Given the description of an element on the screen output the (x, y) to click on. 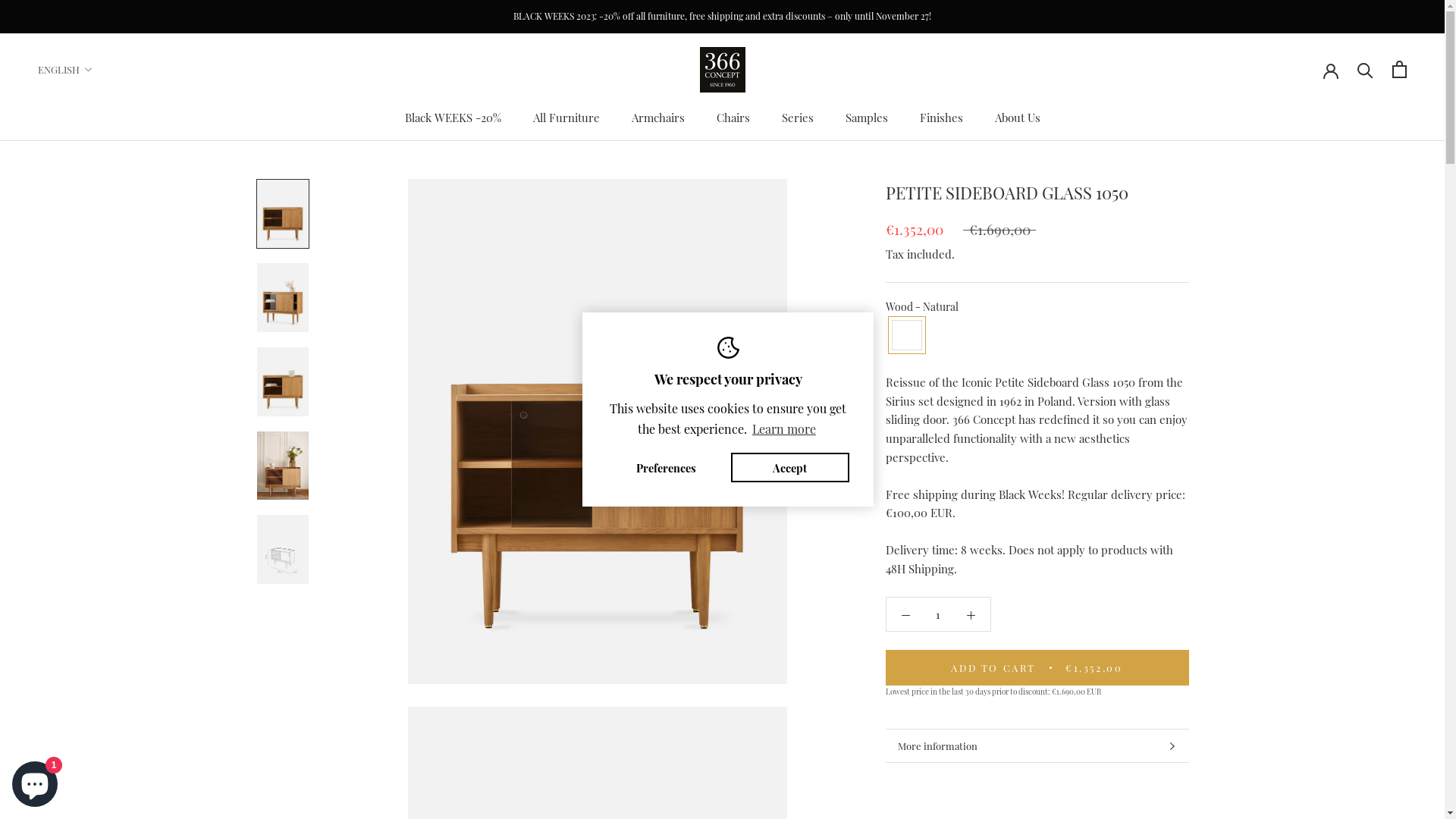
Black WEEKS -20%
Black WEEKS -20% Element type: text (452, 117)
fr Element type: text (80, 128)
Shopify online store chat Element type: hover (34, 780)
Accept Element type: text (790, 467)
Learn more Element type: text (783, 428)
Armchairs
Armchairs Element type: text (657, 117)
Series
Series Element type: text (796, 117)
About Us
About Us Element type: text (1017, 117)
More information Element type: text (1037, 745)
Finishes
Finishes Element type: text (940, 117)
Chairs
Chairs Element type: text (732, 117)
All Furniture
All Furniture Element type: text (565, 117)
Preferences Element type: text (665, 467)
en Element type: text (80, 104)
Samples
Samples Element type: text (865, 117)
ENGLISH Element type: text (65, 68)
